Given the description of an element on the screen output the (x, y) to click on. 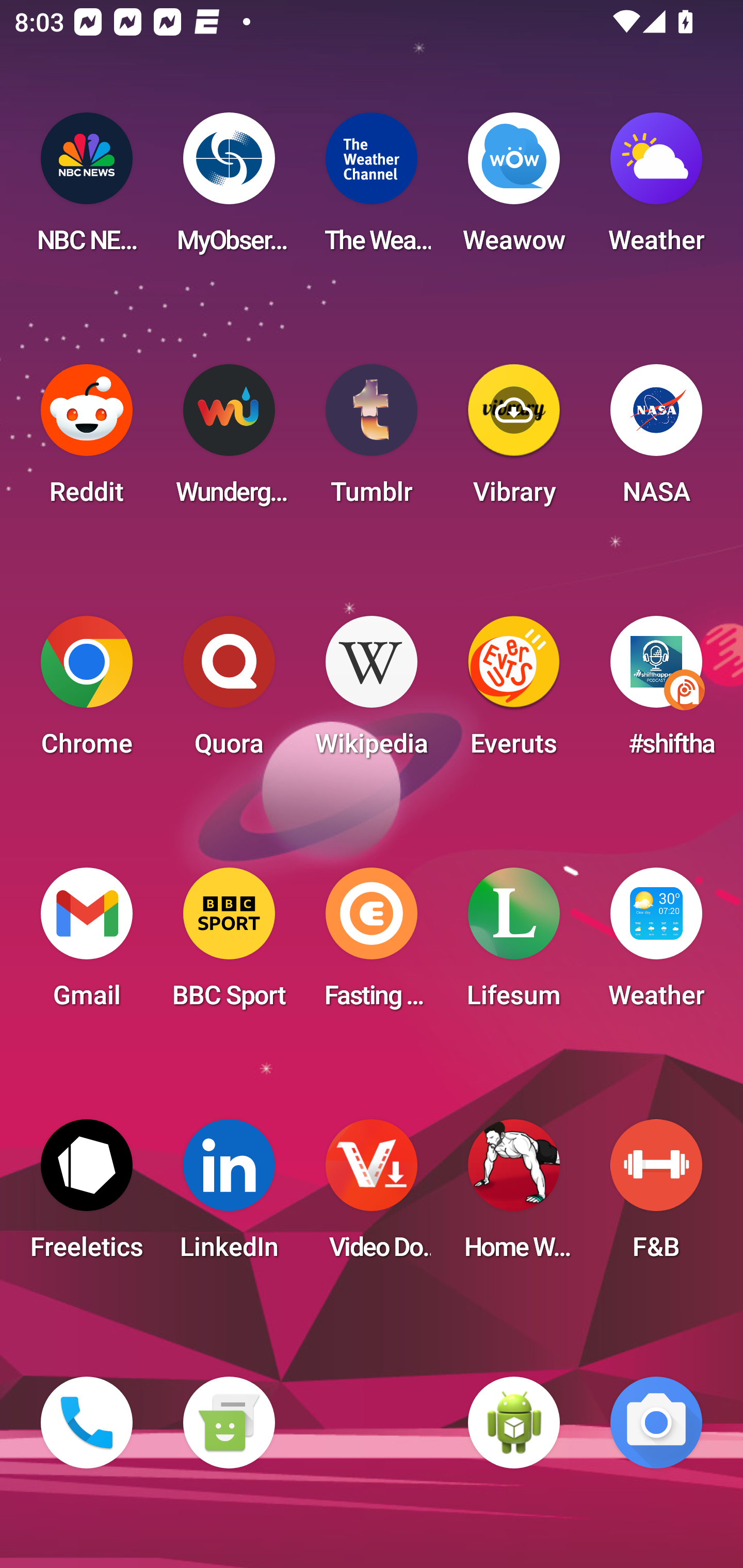
NBC NEWS (86, 188)
MyObservatory (228, 188)
The Weather Channel (371, 188)
Weawow (513, 188)
Weather (656, 188)
Reddit (86, 440)
Wunderground (228, 440)
Tumblr (371, 440)
Vibrary (513, 440)
NASA (656, 440)
Chrome (86, 692)
Quora (228, 692)
Wikipedia (371, 692)
Everuts (513, 692)
#shifthappens in the Digital Workplace Podcast (656, 692)
Gmail (86, 943)
BBC Sport (228, 943)
Fasting Coach (371, 943)
Lifesum (513, 943)
Weather (656, 943)
Freeletics (86, 1195)
LinkedIn (228, 1195)
Video Downloader & Ace Player (371, 1195)
Home Workout (513, 1195)
F&B (656, 1195)
Phone (86, 1422)
Messaging (228, 1422)
WebView Browser Tester (513, 1422)
Camera (656, 1422)
